Given the description of an element on the screen output the (x, y) to click on. 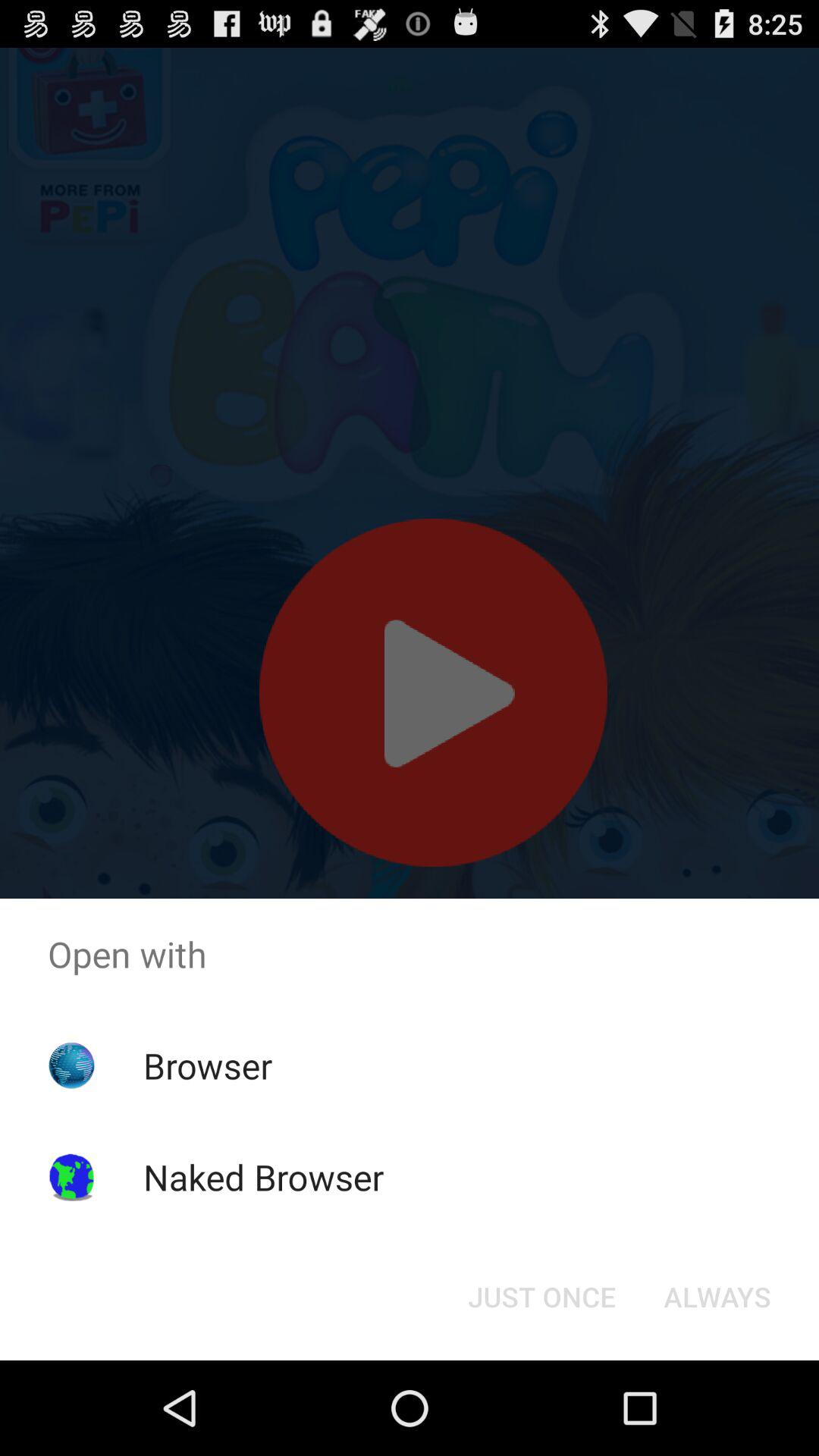
click the button to the left of the always button (541, 1296)
